Given the description of an element on the screen output the (x, y) to click on. 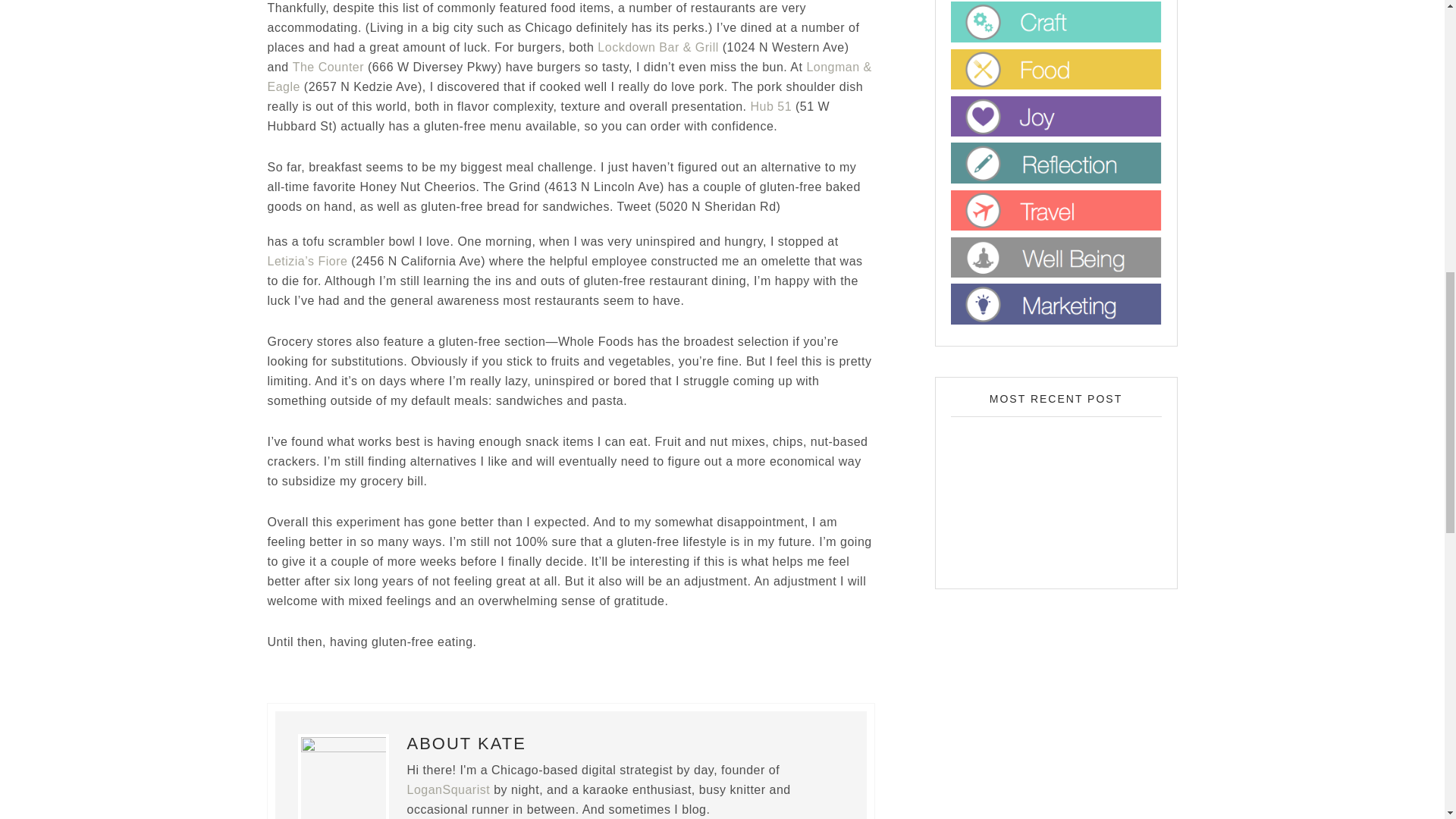
One Way to Keep Local Journalism Alive (1055, 493)
The Counter (328, 66)
Hub 51 (771, 106)
LoganSquarist (447, 789)
